Given the description of an element on the screen output the (x, y) to click on. 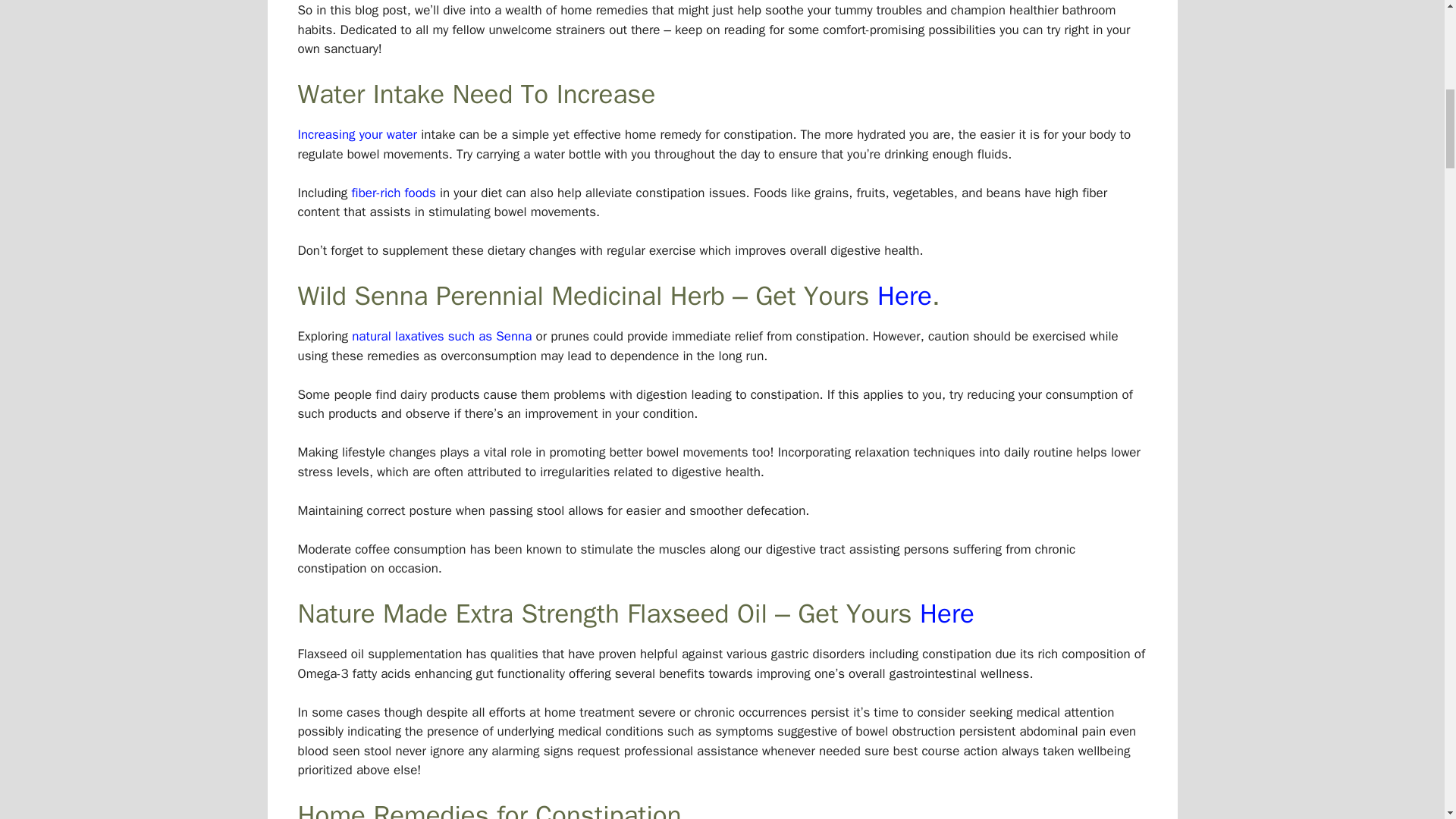
Increasing your water (356, 134)
fiber-rich foods (392, 192)
Here (947, 613)
Here (904, 295)
natural laxatives such as Senna (441, 335)
